Given the description of an element on the screen output the (x, y) to click on. 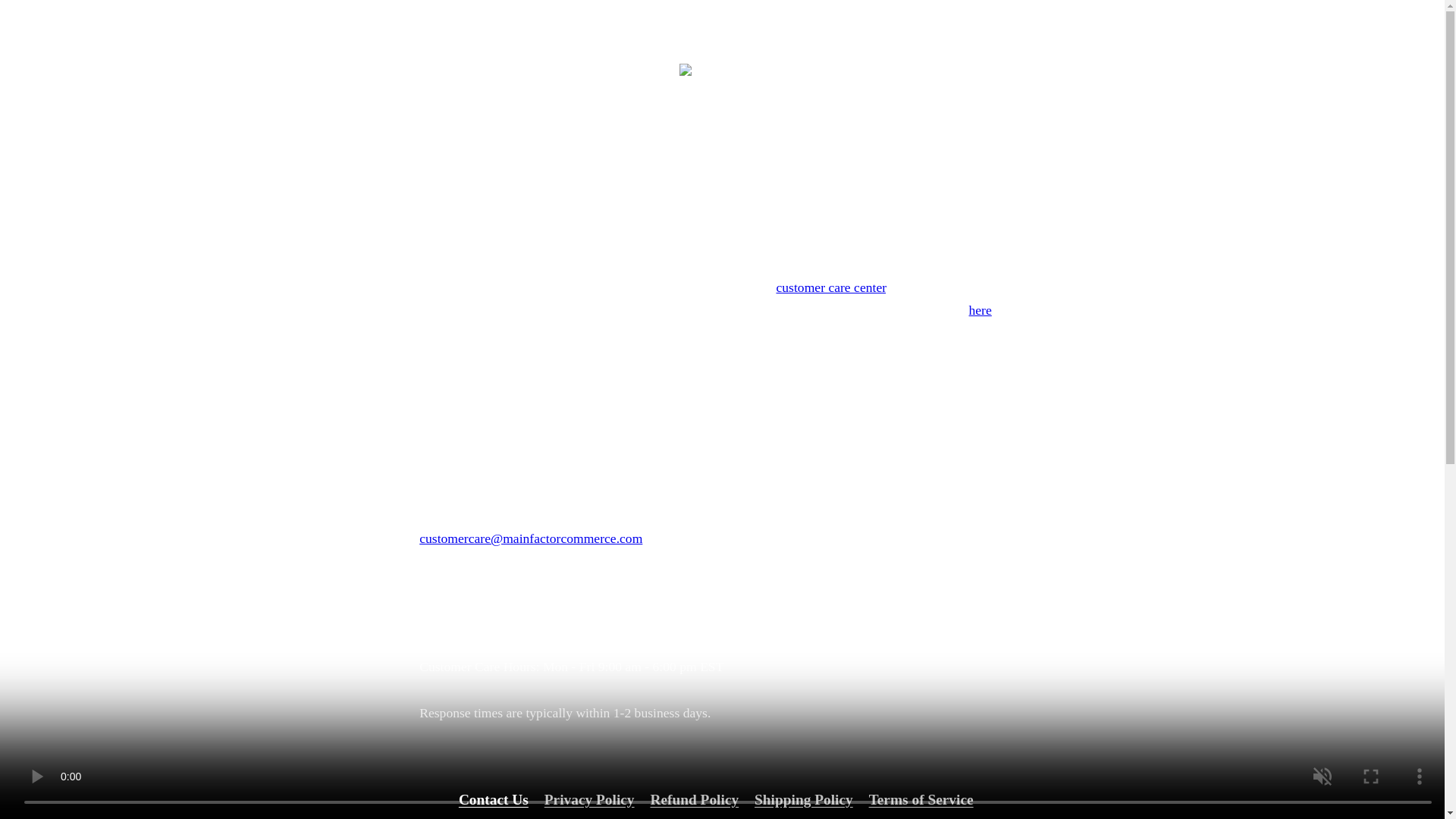
APPI Compliance (857, 817)
customer care center (831, 287)
HOME (571, 114)
Skip to content (49, 18)
CCPA Compliance (725, 817)
Refund Policy (693, 798)
SHOP (685, 114)
here (980, 309)
Log in (1093, 68)
Privacy Policy (589, 798)
